Given the description of an element on the screen output the (x, y) to click on. 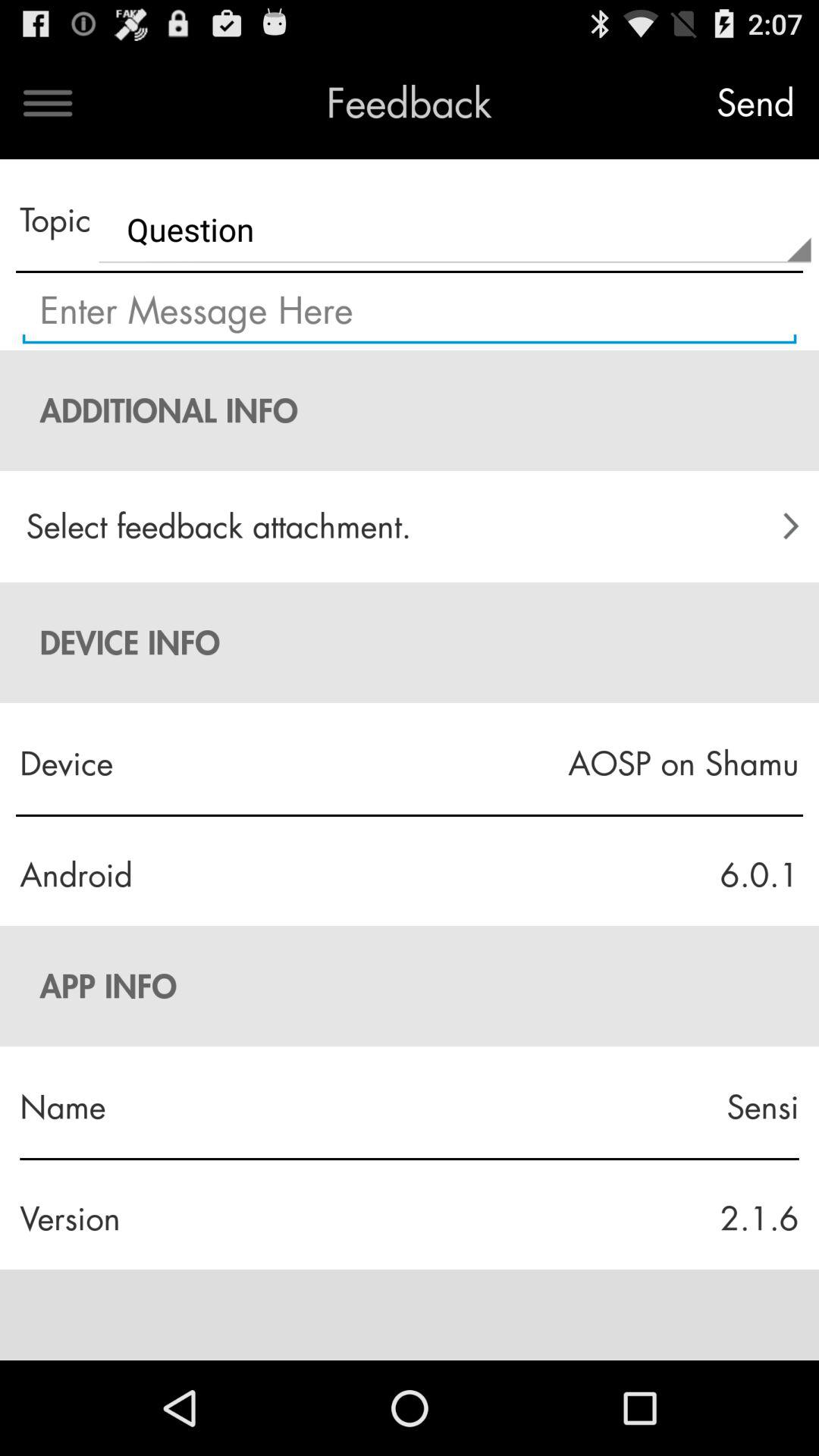
write message (409, 311)
